Given the description of an element on the screen output the (x, y) to click on. 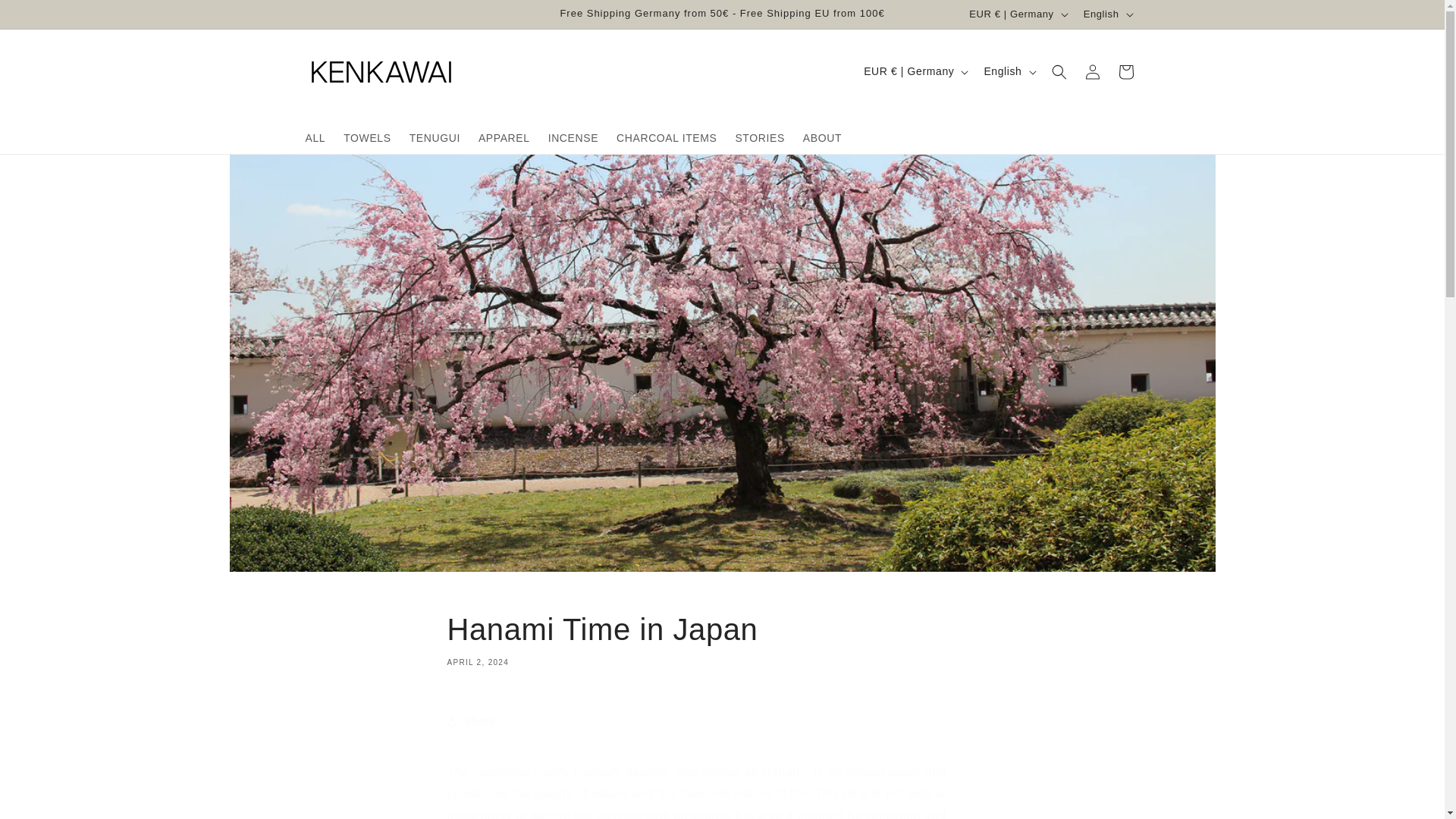
TENUGUI (434, 137)
CHARCOAL ITEMS (666, 137)
English (1008, 71)
APPAREL (503, 137)
INCENSE (572, 137)
ABOUT (821, 137)
TOWELS (721, 638)
ALL (366, 137)
Cart (314, 137)
Log in (1124, 70)
STORIES (1091, 70)
Skip to content (759, 137)
Share (45, 17)
